Given the description of an element on the screen output the (x, y) to click on. 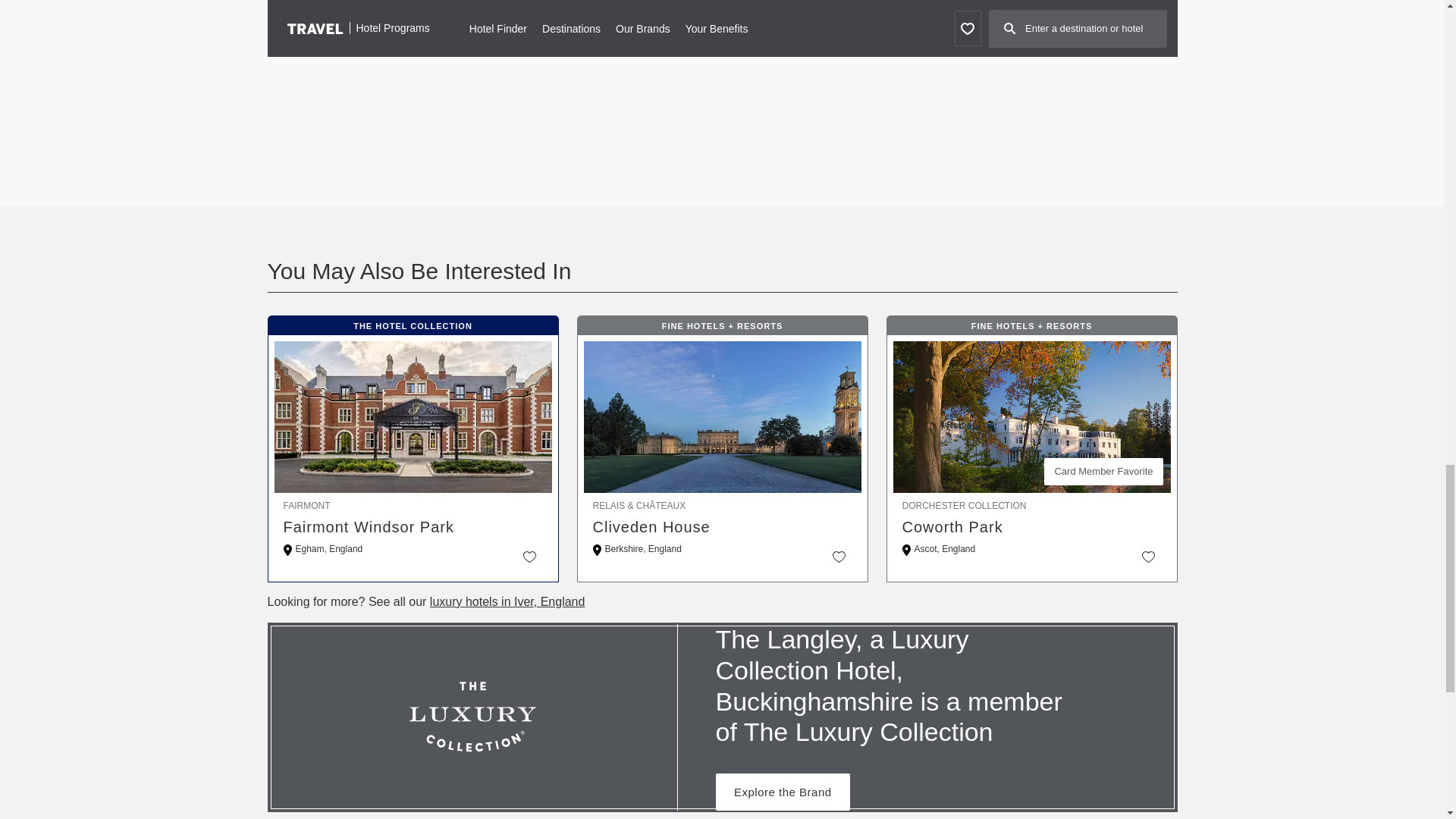
Explore the Brand (783, 791)
luxury hotels in Iver, England (507, 601)
Cliveden House (721, 526)
Fairmont Windsor Park (413, 526)
Coworth Park (1031, 526)
